Given the description of an element on the screen output the (x, y) to click on. 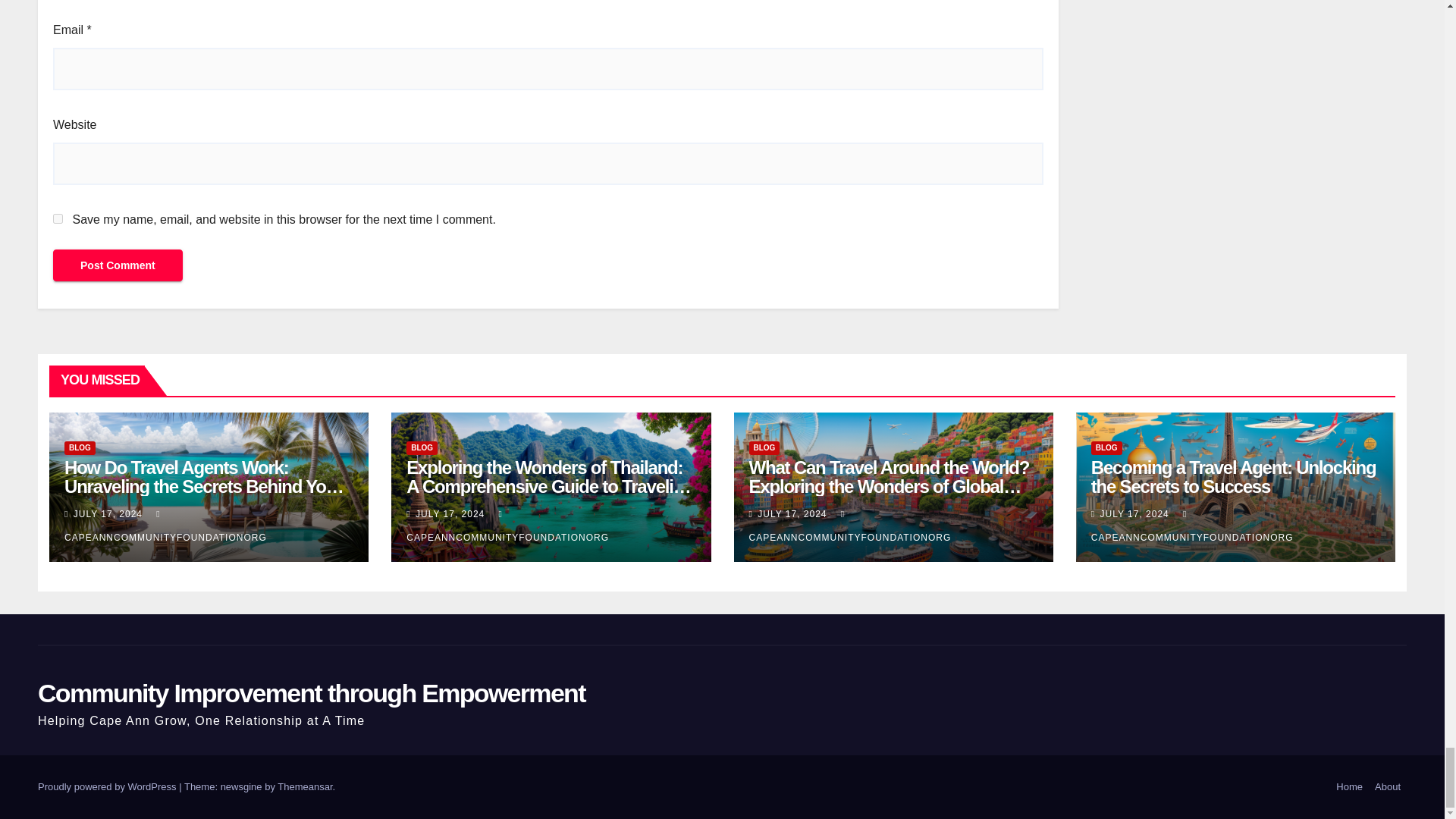
Post Comment (117, 265)
yes (57, 218)
